Given the description of an element on the screen output the (x, y) to click on. 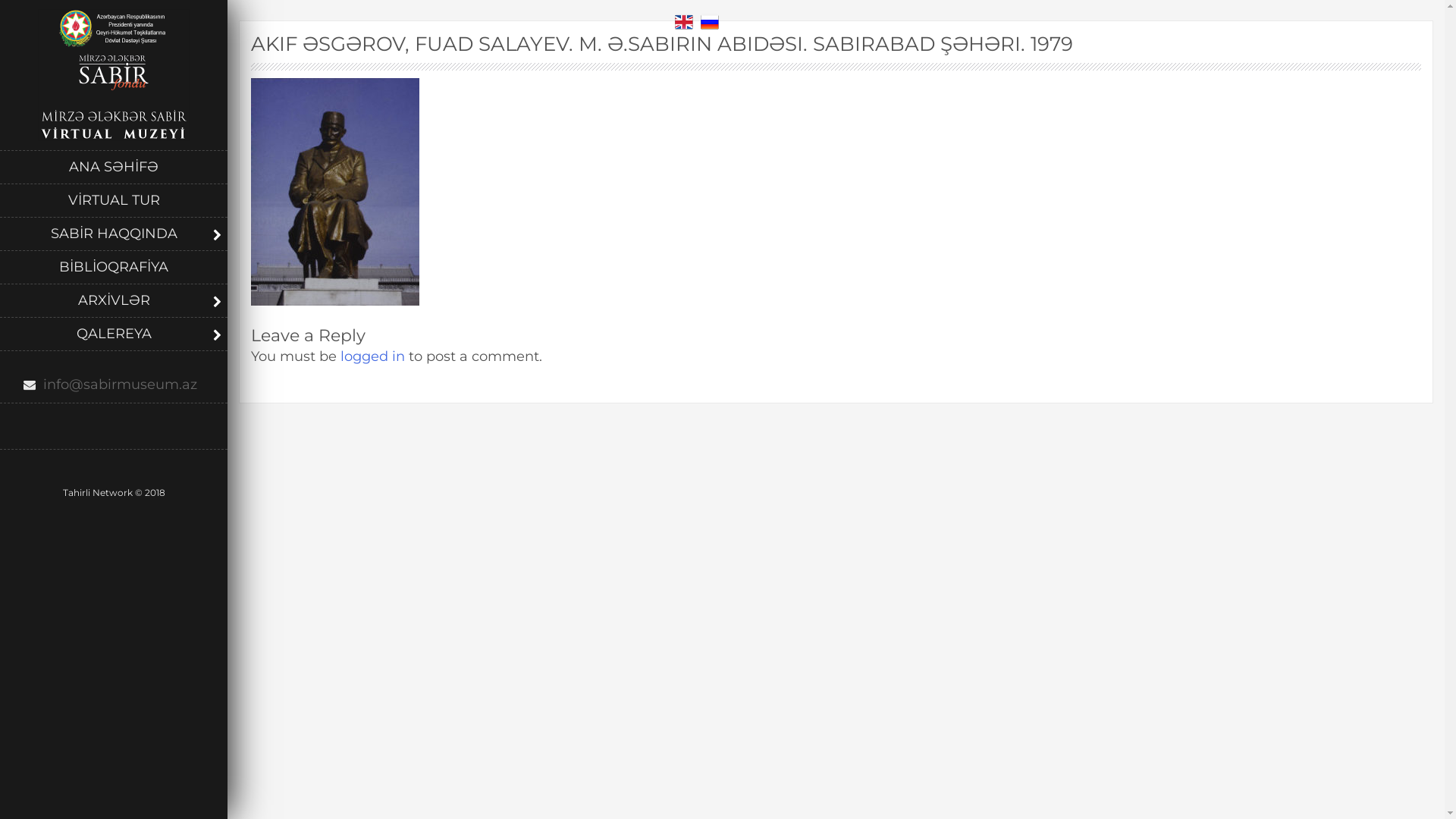
QALEREYA Element type: text (113, 333)
English  Element type: hover (683, 21)
info@sabirmuseum.az Element type: text (113, 384)
Russia  Element type: hover (709, 21)
logged in Element type: text (372, 356)
